Given the description of an element on the screen output the (x, y) to click on. 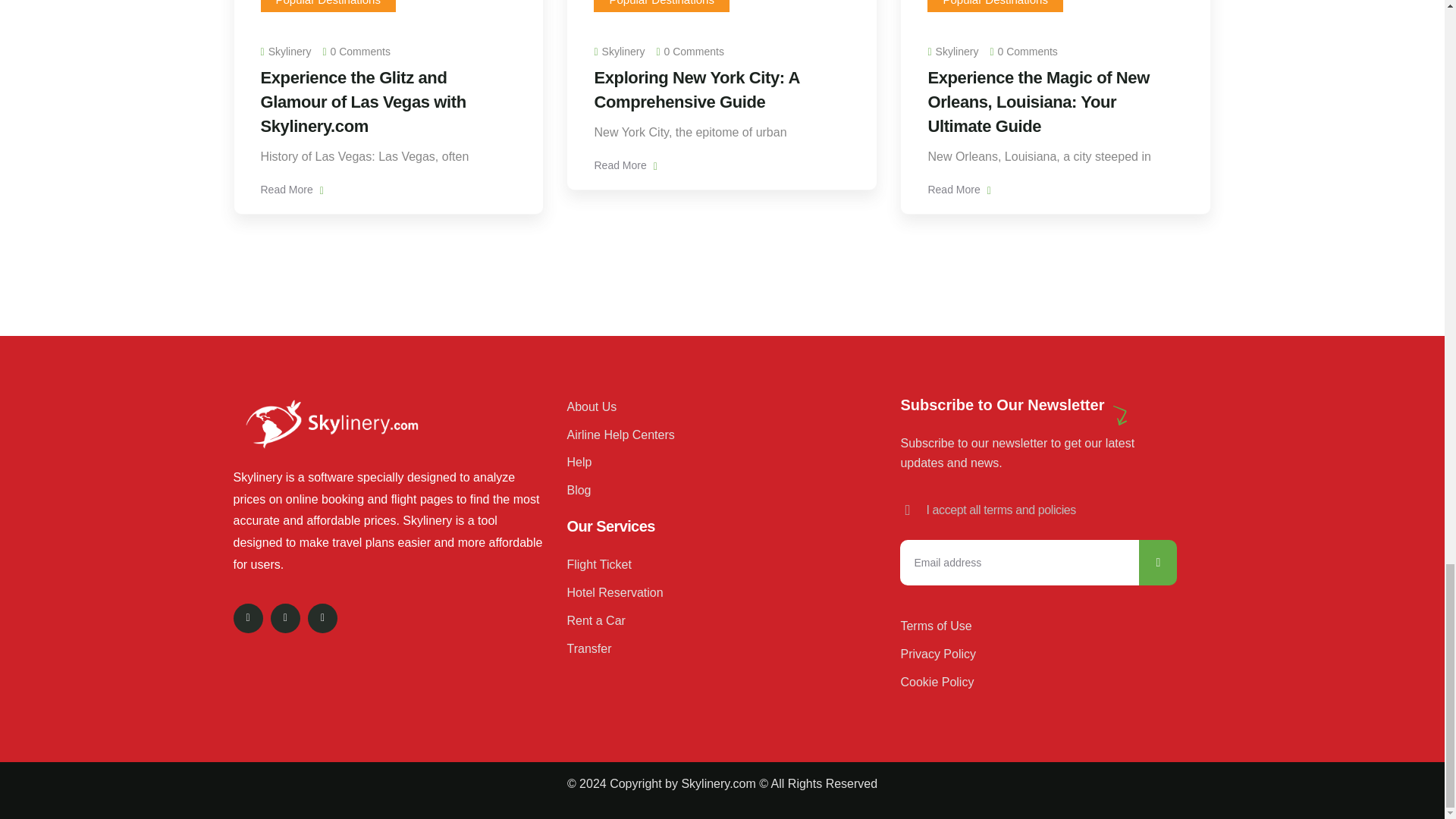
Read More (291, 189)
Popular Destinations (994, 2)
Read More (958, 189)
Read More (625, 164)
Home (330, 423)
Airline Help Centers (713, 435)
Help (713, 463)
About Us (713, 407)
